Given the description of an element on the screen output the (x, y) to click on. 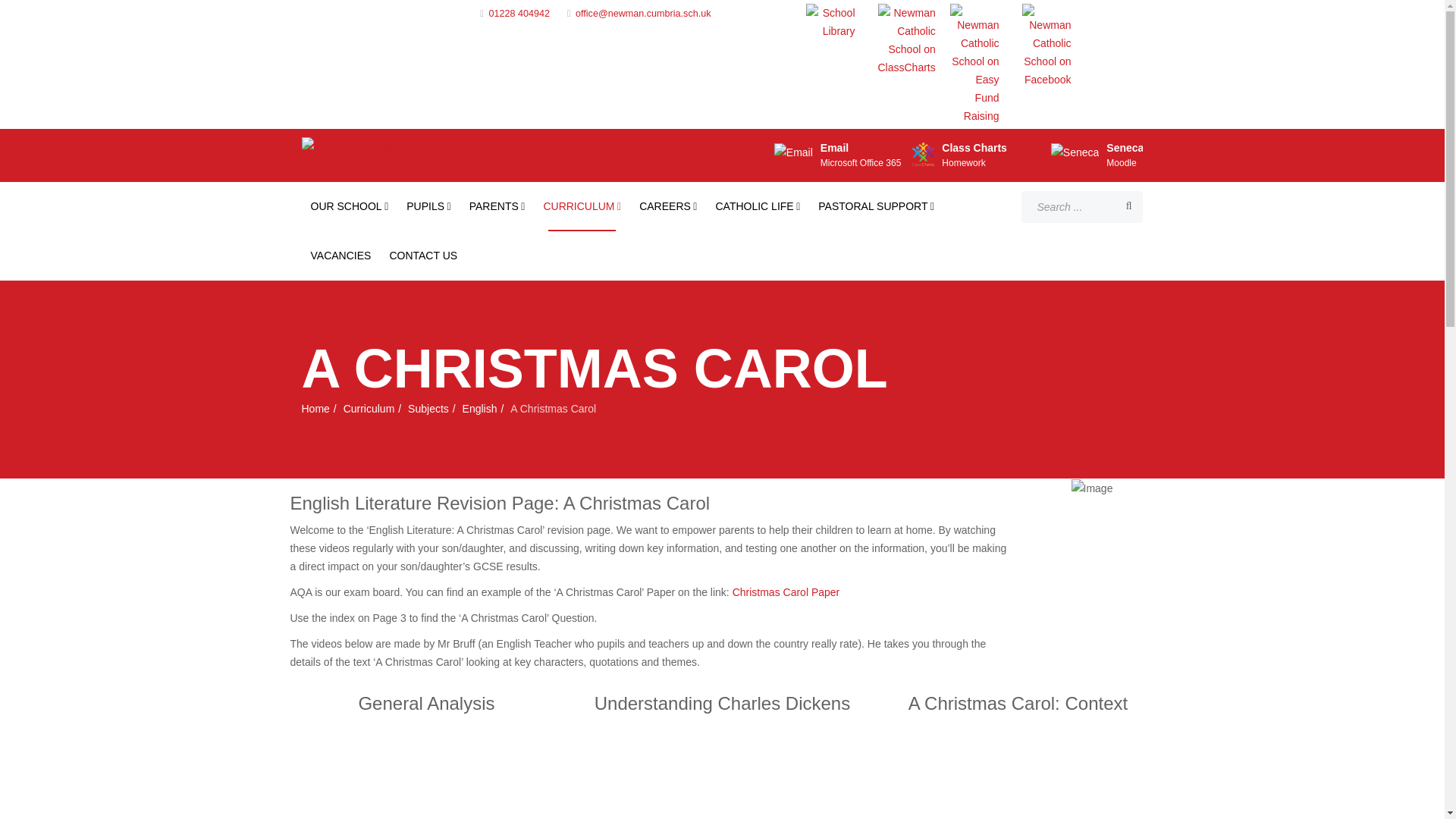
Class Charts (974, 147)
Email (834, 147)
Seneca (1124, 147)
Microsoft Office 365 (861, 163)
YouTube video player (722, 781)
Class Charts (963, 163)
01228 404942 (518, 13)
Moodle (1120, 163)
OUR SCHOOL (349, 205)
Microsoft Office 365 (861, 163)
YouTube video player (425, 781)
Homework (963, 163)
PUPILS (428, 205)
Moodle (1120, 163)
